Given the description of an element on the screen output the (x, y) to click on. 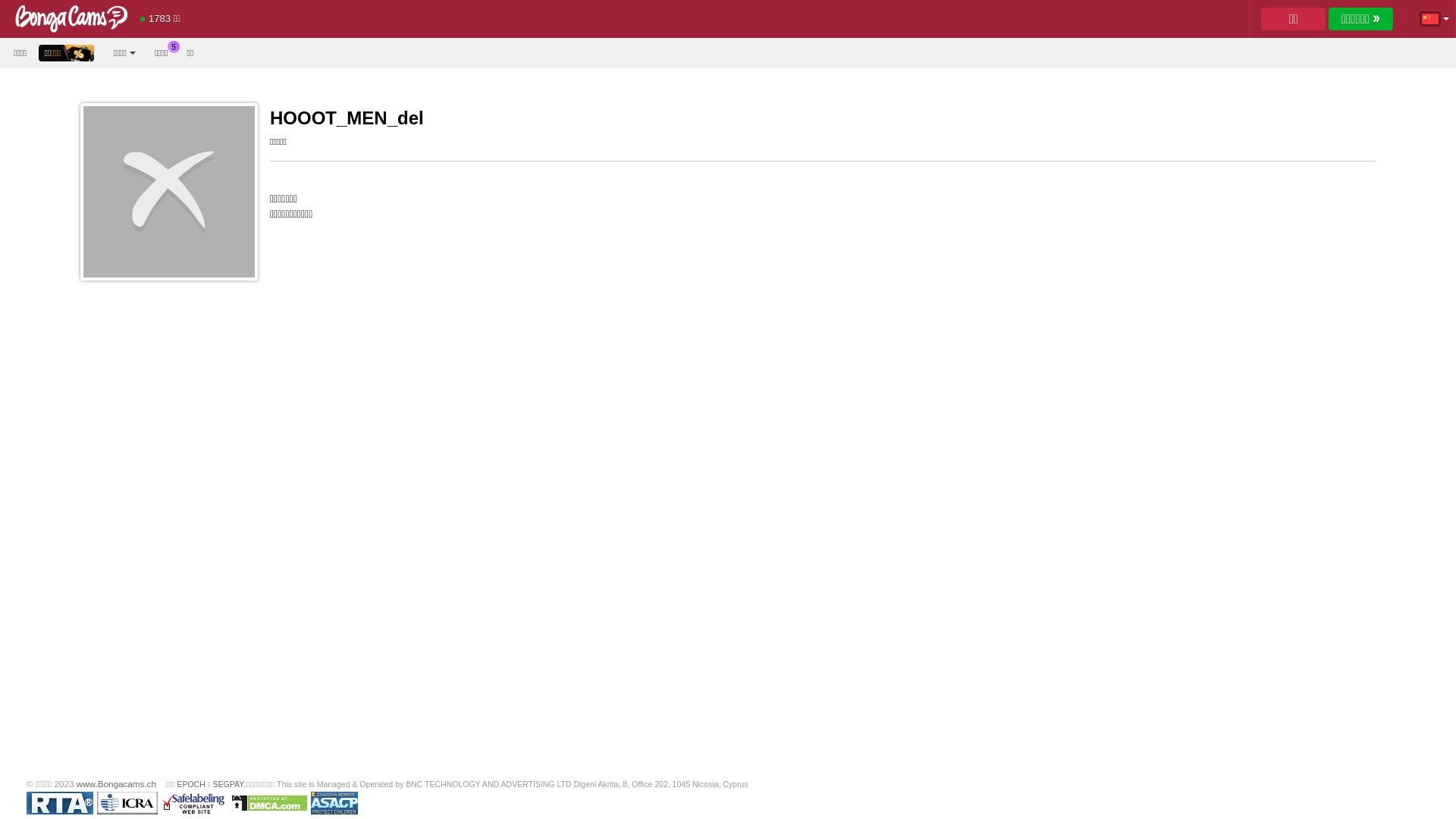
Protected by DMCA Element type: hover (269, 802)
EPOCH Element type: text (190, 783)
SEGPAY Element type: text (227, 783)
RTA Element type: hover (59, 802)
ICRA Element type: hover (127, 802)
www.Bongacams.ch Element type: text (116, 783)
SafeLabeling Element type: hover (193, 802)
Association of Sites Advocating Child Protection Element type: hover (333, 802)
